Given the description of an element on the screen output the (x, y) to click on. 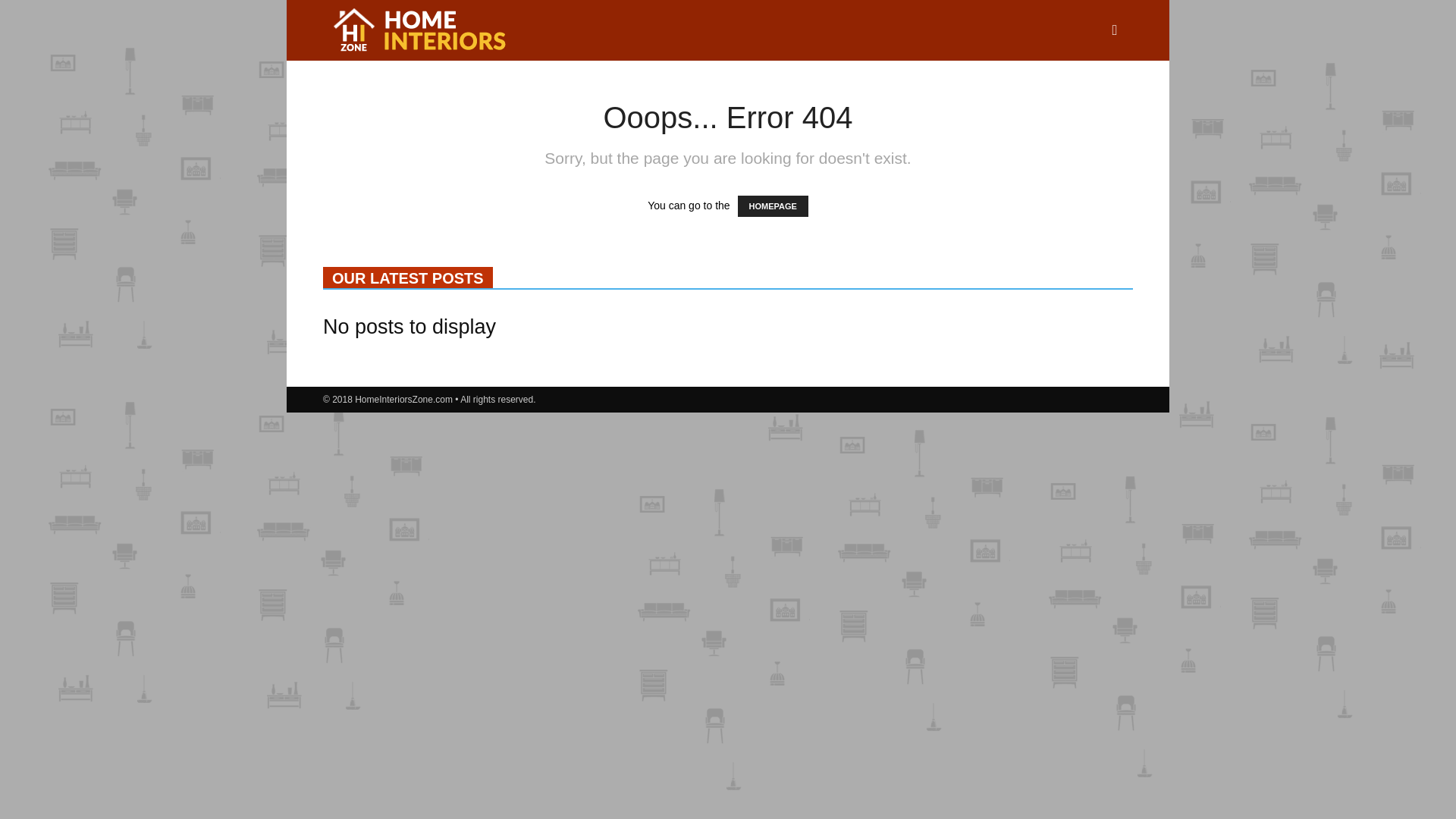
homeinteriorszone (417, 30)
HOMEPAGE (772, 206)
Home Interiors Blog (417, 30)
